Given the description of an element on the screen output the (x, y) to click on. 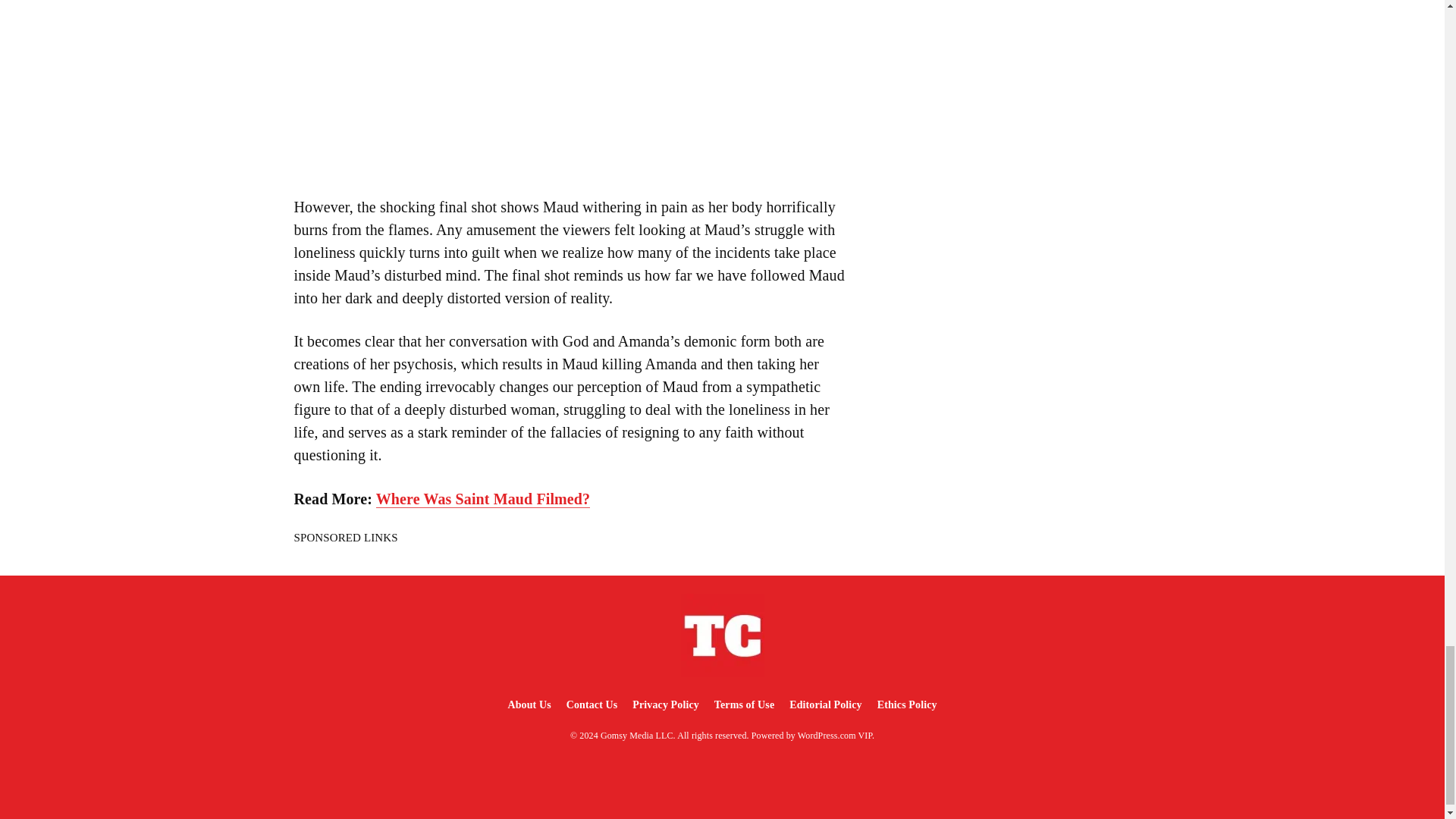
Where Was Saint Maud Filmed? (482, 498)
Ethics Policy (906, 704)
WordPress.com VIP (834, 735)
Terms of Use (743, 704)
Contact Us (592, 704)
About Us (528, 704)
Privacy Policy (665, 704)
Editorial Policy (825, 704)
